Given the description of an element on the screen output the (x, y) to click on. 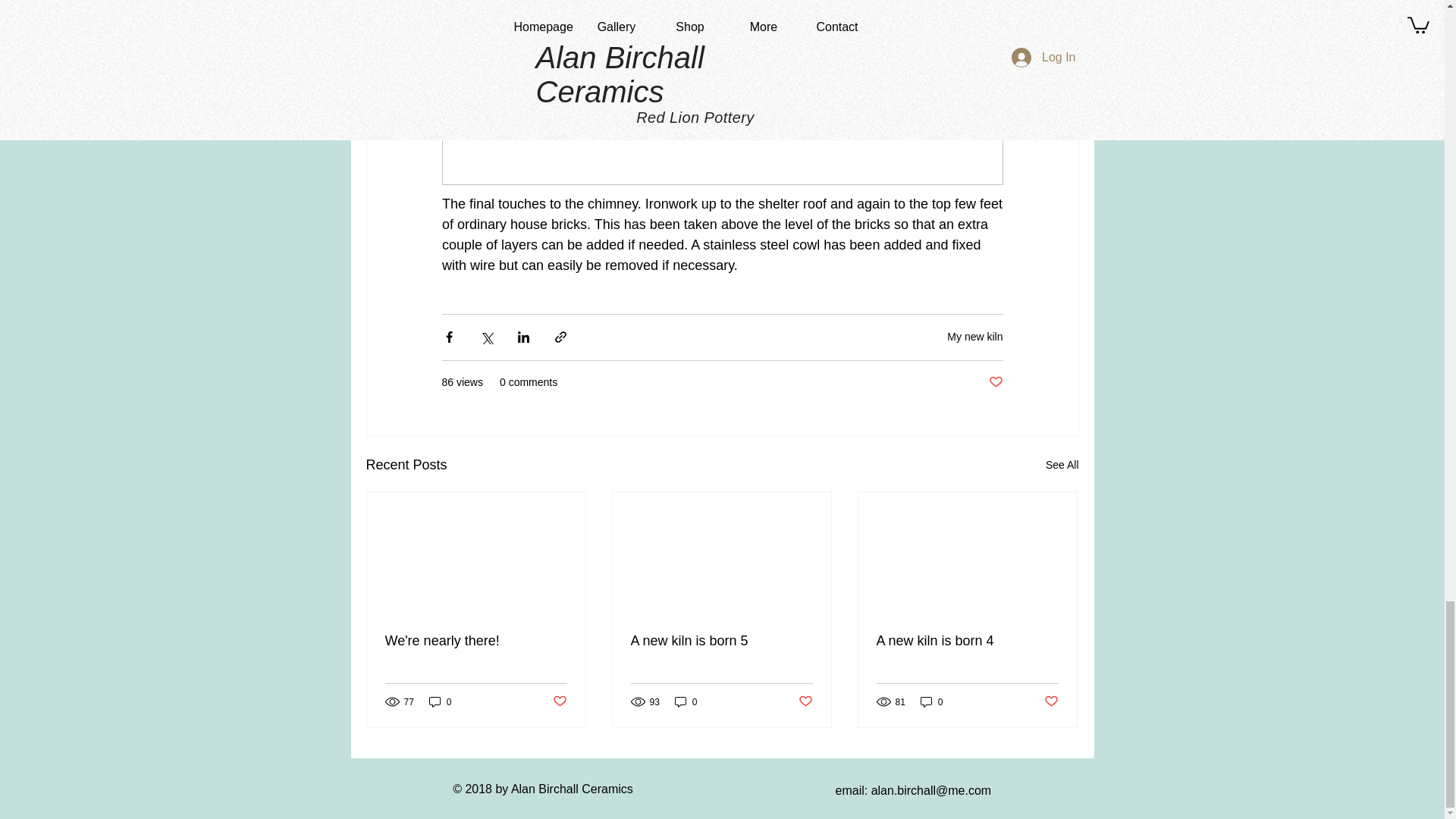
See All (1061, 464)
Post not marked as liked (1050, 701)
My new kiln (975, 336)
Post not marked as liked (804, 701)
0 (440, 701)
Post not marked as liked (995, 382)
0 (685, 701)
Post not marked as liked (558, 701)
0 (931, 701)
A new kiln is born 4 (967, 641)
